Given the description of an element on the screen output the (x, y) to click on. 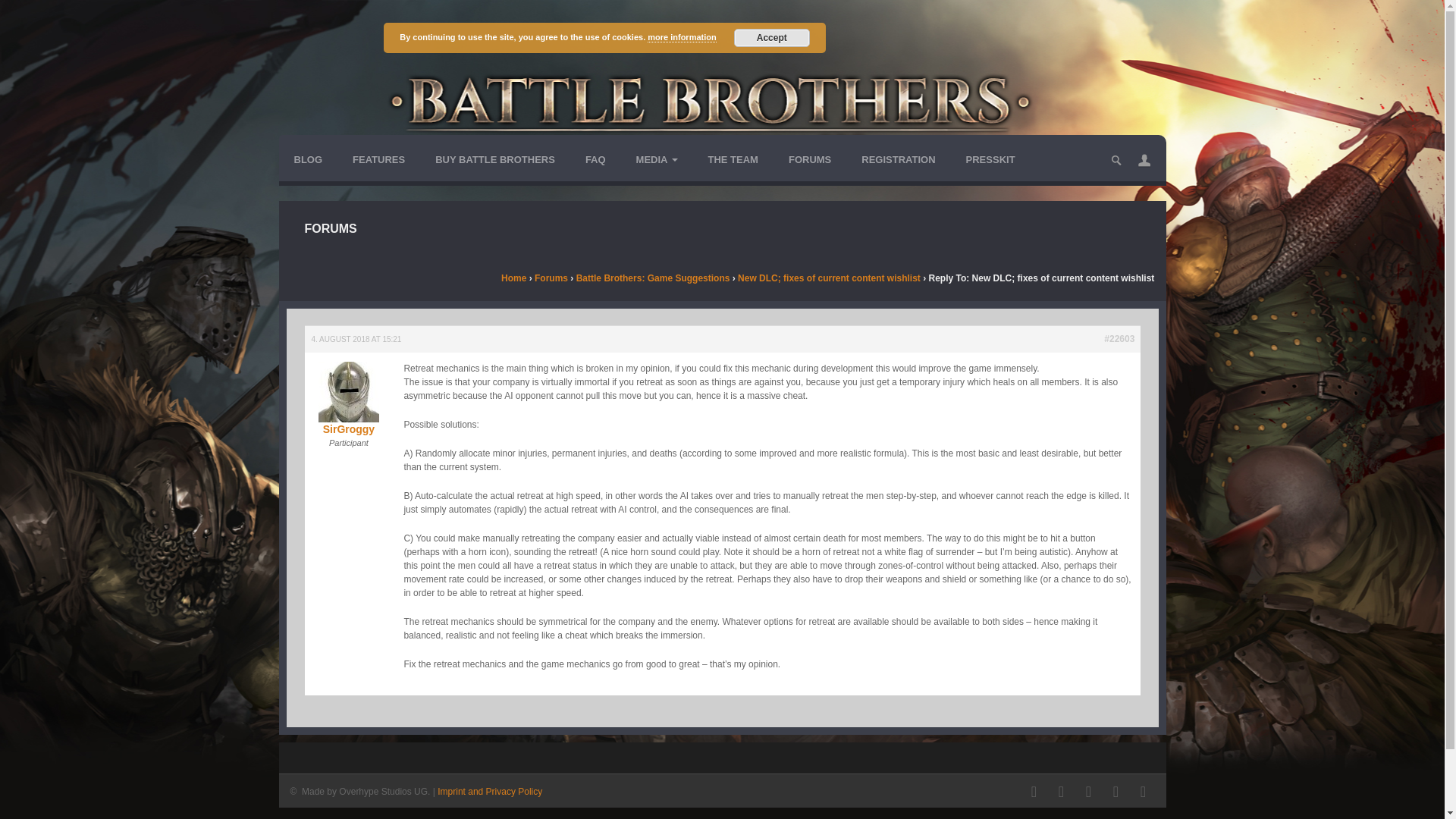
SirGroggy (347, 408)
Search (15, 13)
FAQ (595, 159)
View SirGroggy's profile (347, 408)
Forums (550, 277)
MEDIA (657, 159)
REGISTRATION (897, 159)
FEATURES (378, 159)
Home (512, 277)
Imprint and Privacy Policy (489, 791)
